Given the description of an element on the screen output the (x, y) to click on. 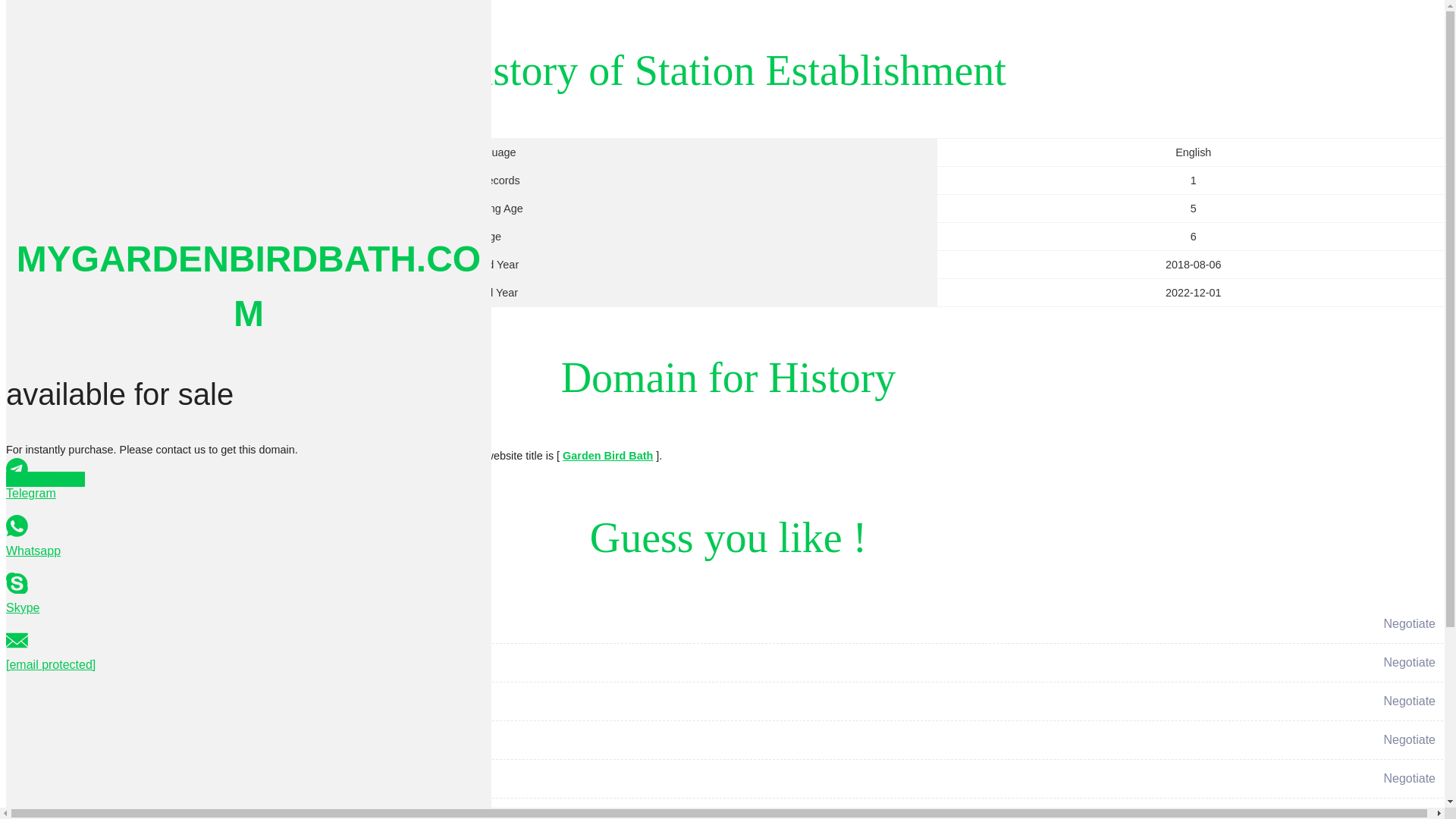
orthodoxinfo.net (488, 790)
fr-coaching.com (488, 674)
wcumc.org (488, 713)
orthodoxinfo.net (488, 790)
Skype (248, 594)
whatbody.com (488, 636)
fr-coaching.com (488, 674)
Get A Quote (44, 478)
Telegram (248, 479)
fr-coaching.com (488, 674)
Telegram (248, 479)
orthodoxinfo.net (488, 789)
premfaces.com (488, 752)
wcumc.org (488, 713)
whatbody.com (488, 636)
